Given the description of an element on the screen output the (x, y) to click on. 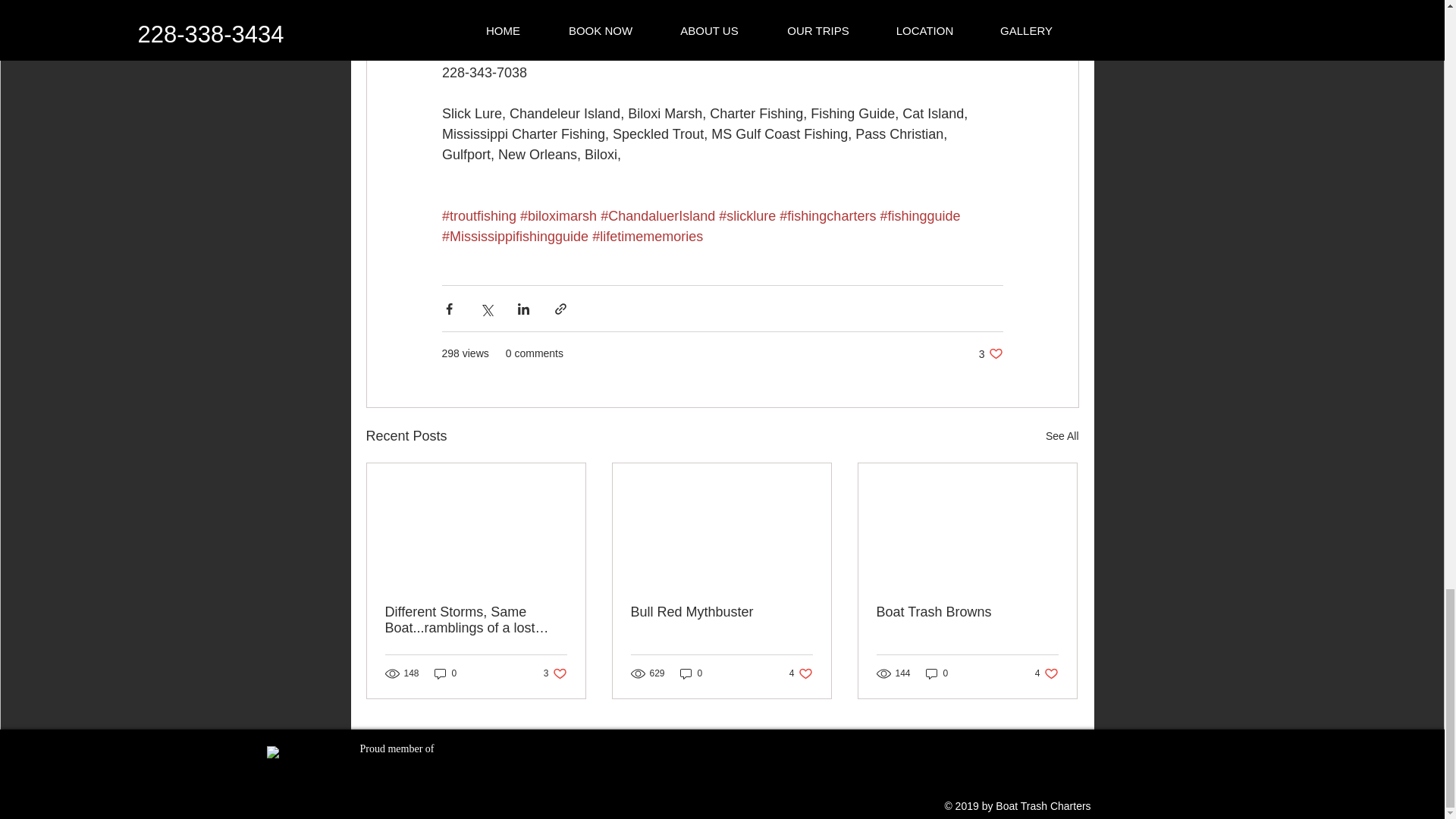
Boat Trash Browns (967, 611)
Bull Red Mythbuster (555, 672)
0 (721, 611)
0 (1046, 672)
0 (800, 672)
See All (990, 353)
